Given the description of an element on the screen output the (x, y) to click on. 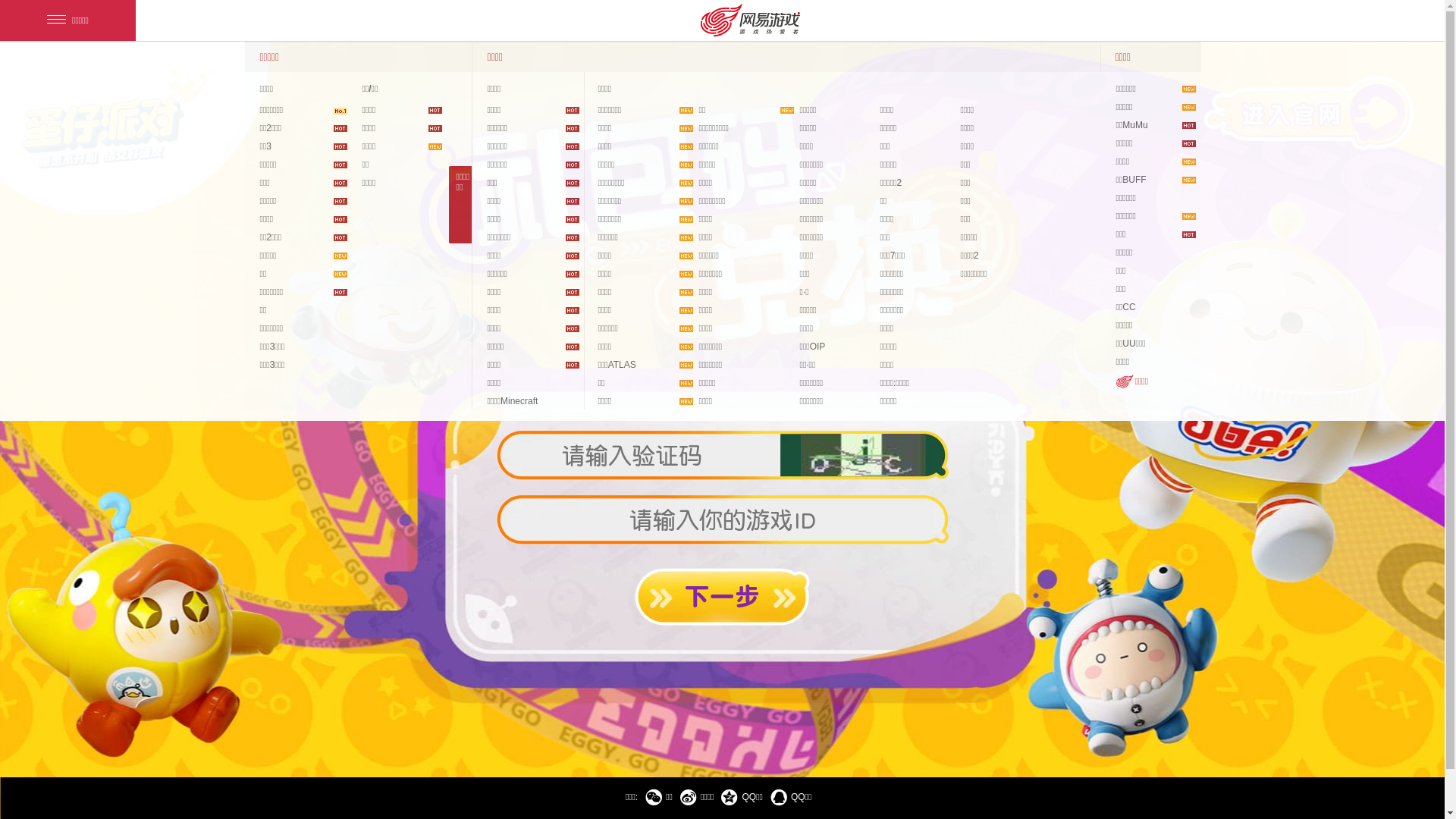
logo Element type: hover (118, 114)
